Given the description of an element on the screen output the (x, y) to click on. 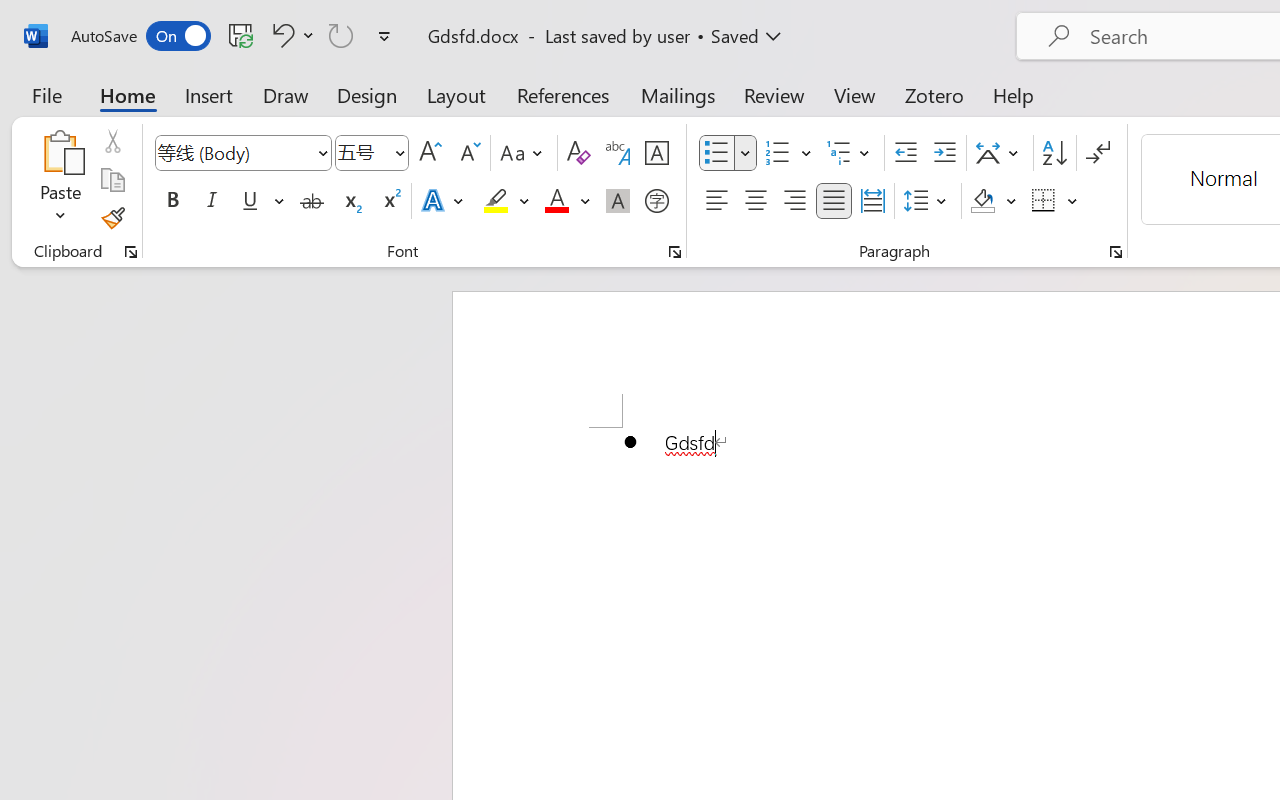
Font Color Red (556, 201)
Can't Repeat (341, 35)
Undo Bullet Default (290, 35)
